Given the description of an element on the screen output the (x, y) to click on. 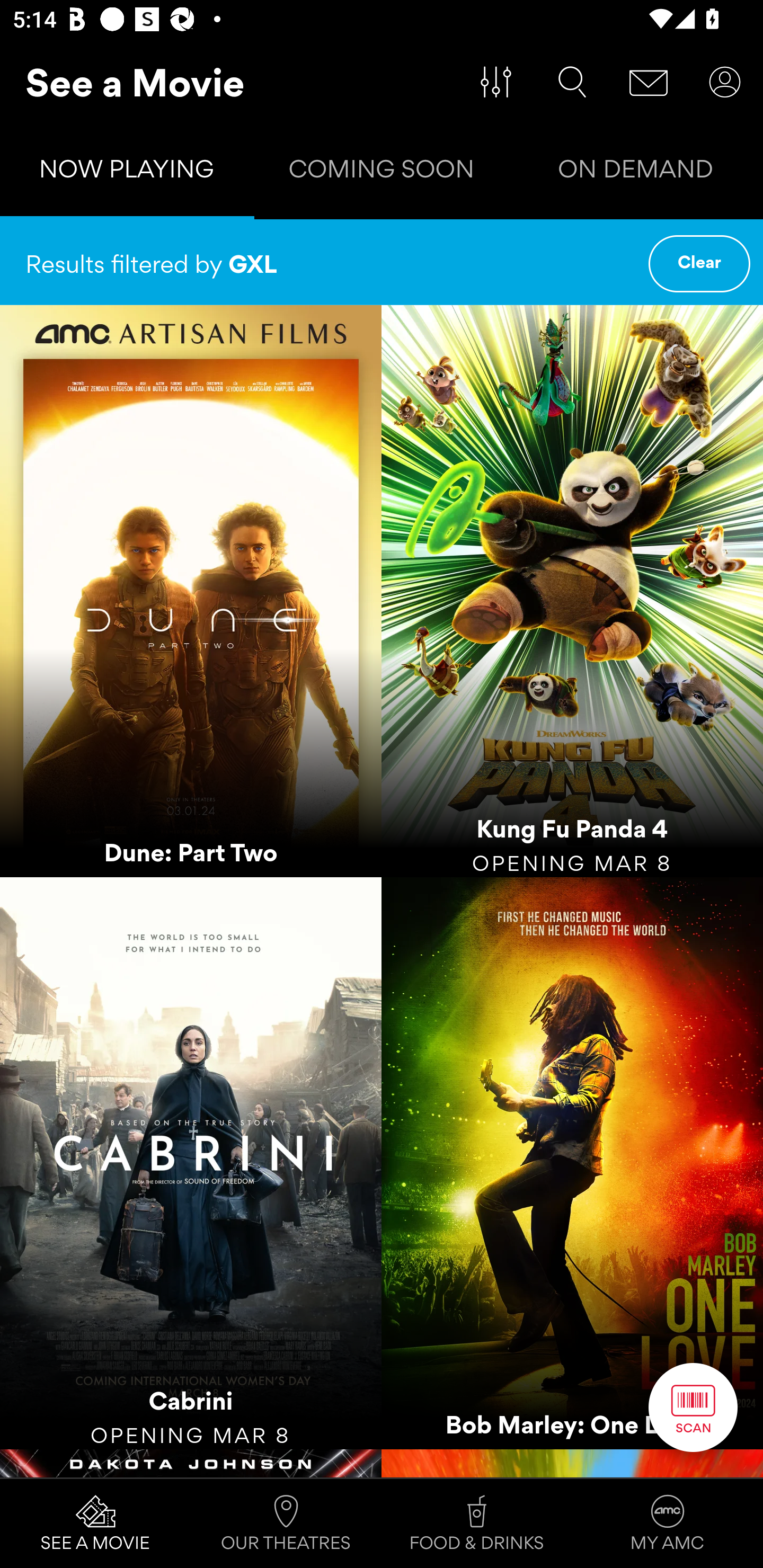
Filter Movies (495, 82)
Search (572, 82)
Message Center (648, 82)
User Account (724, 82)
NOW PLAYING
Tab 1 of 3 (127, 173)
COMING SOON
Tab 2 of 3 (381, 173)
ON DEMAND
Tab 3 of 3 (635, 173)
Clear (699, 263)
Dune: Part Two (190, 590)
Kung Fu Panda 4
OPENING MAR 8 (572, 590)
Cabrini
OPENING MAR 8 (190, 1162)
Bob Marley: One Love (572, 1162)
Scan Button (692, 1406)
SEE A MOVIE
Tab 1 of 4 (95, 1523)
OUR THEATRES
Tab 2 of 4 (285, 1523)
FOOD & DRINKS
Tab 3 of 4 (476, 1523)
MY AMC
Tab 4 of 4 (667, 1523)
